Given the description of an element on the screen output the (x, y) to click on. 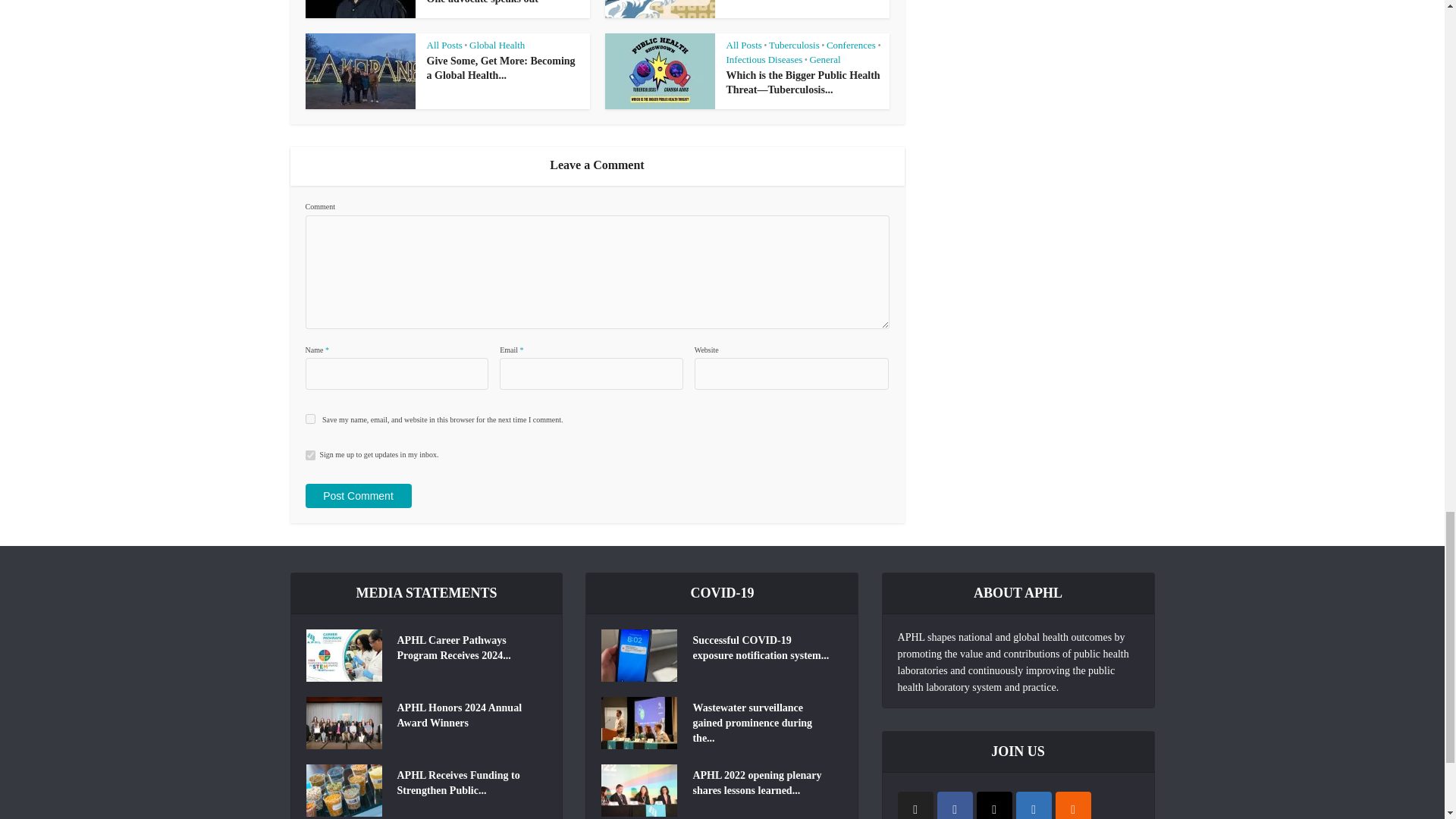
Post Comment (357, 495)
yes (309, 419)
1 (309, 455)
